Given the description of an element on the screen output the (x, y) to click on. 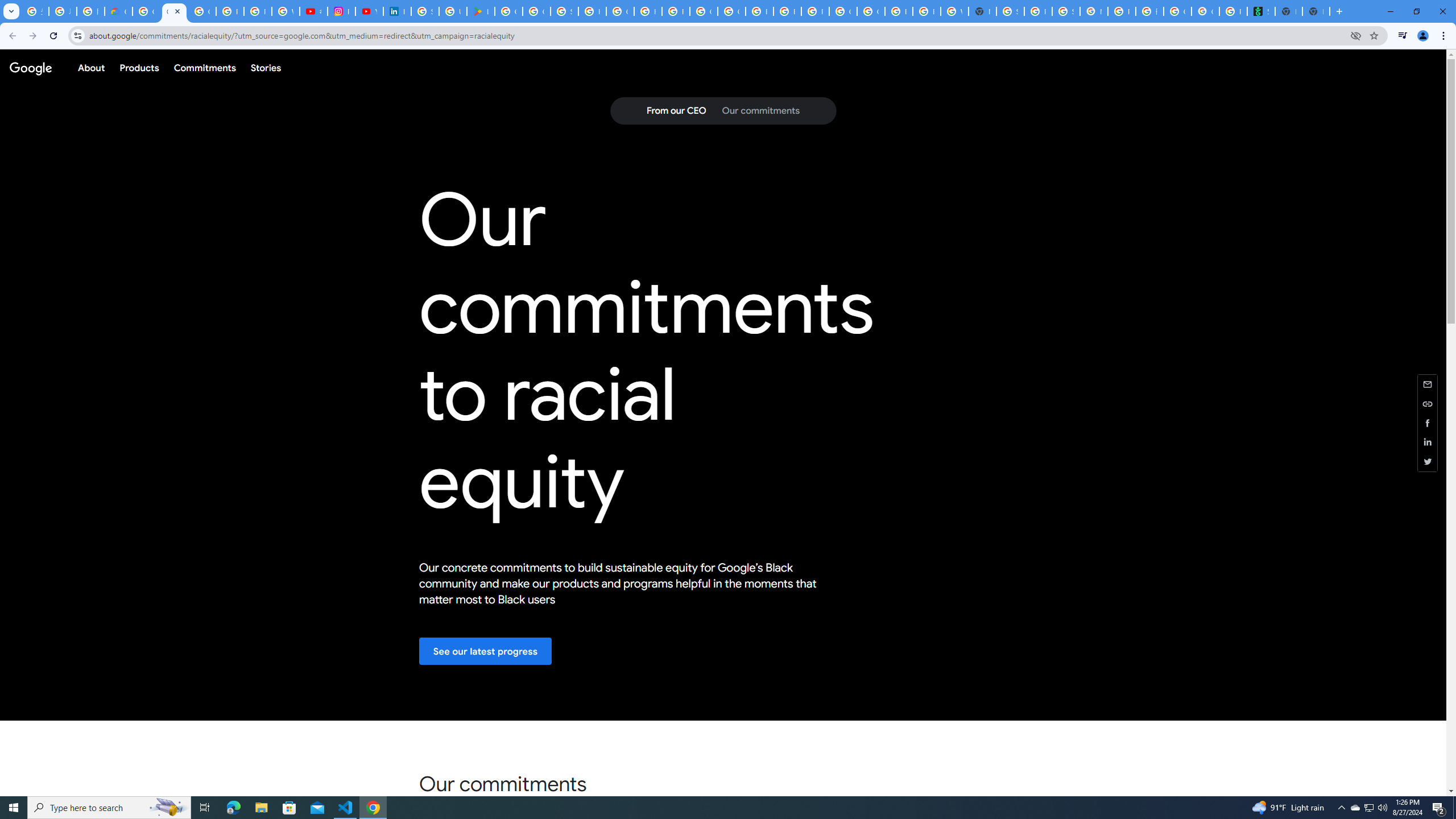
Browse Chrome as a guest - Computer - Google Chrome Help (898, 11)
Browse Chrome as a guest - Computer - Google Chrome Help (759, 11)
Stories (265, 67)
Identity verification via Persona | LinkedIn Help (397, 11)
Address and search bar (715, 35)
Share this page (Facebook) (1427, 422)
New Tab (1316, 11)
